Given the description of an element on the screen output the (x, y) to click on. 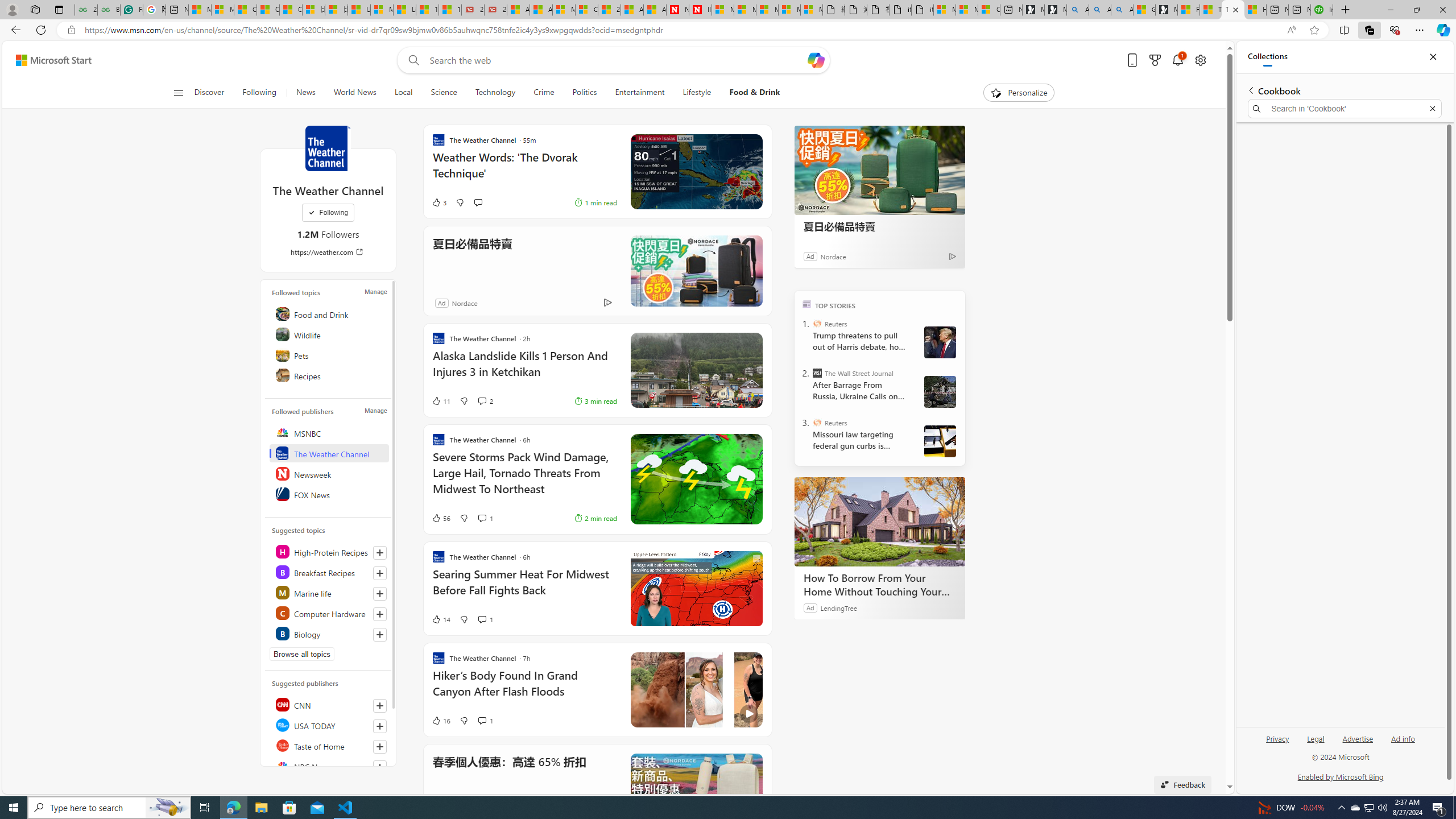
Taste of Home (328, 745)
Alabama high school quarterback dies - Search (1077, 9)
The Wall Street Journal (816, 372)
CNN (328, 704)
